Given the description of an element on the screen output the (x, y) to click on. 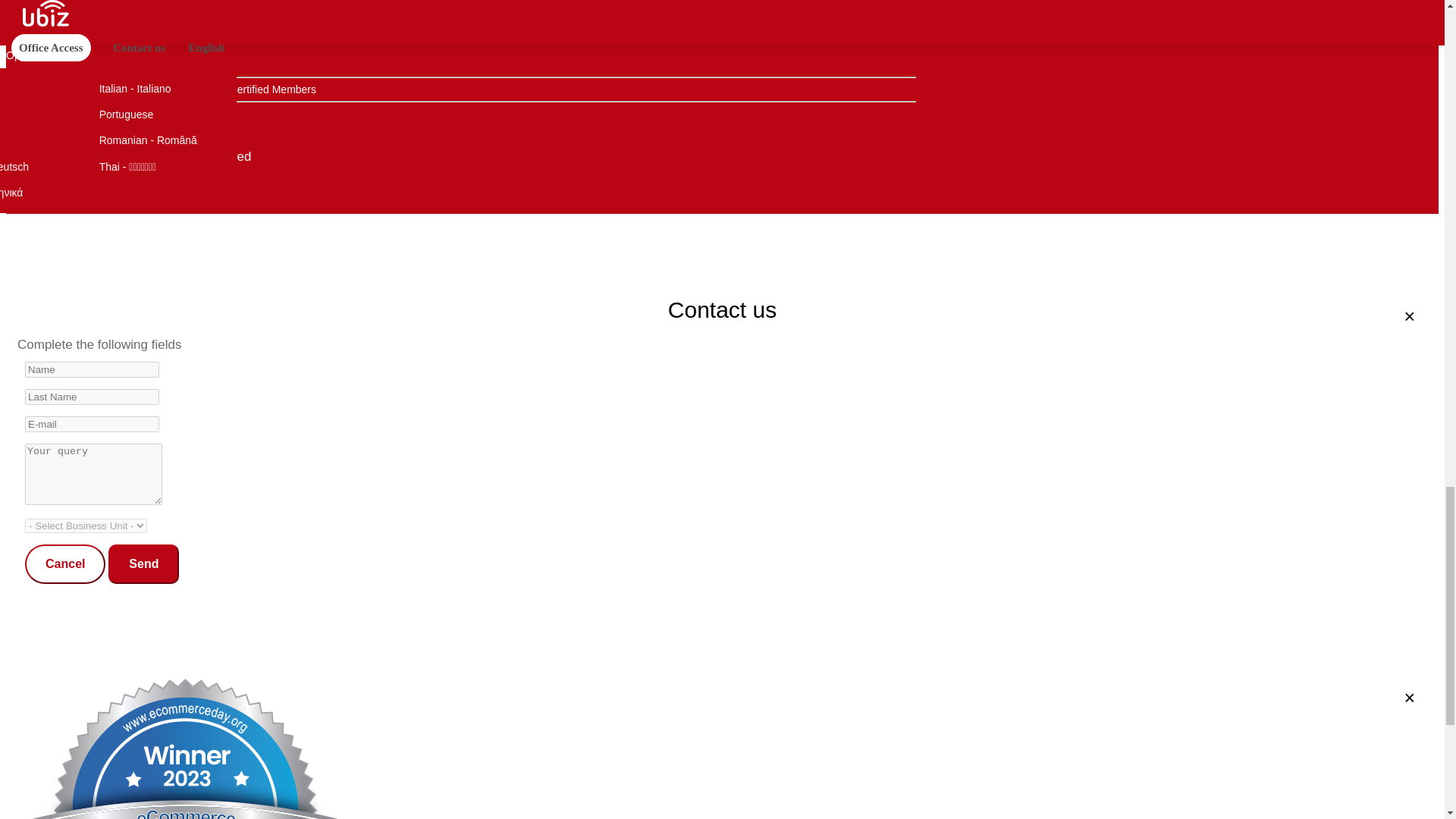
Winner 2023 - eCommerce Startup Competition (24, 128)
